Given the description of an element on the screen output the (x, y) to click on. 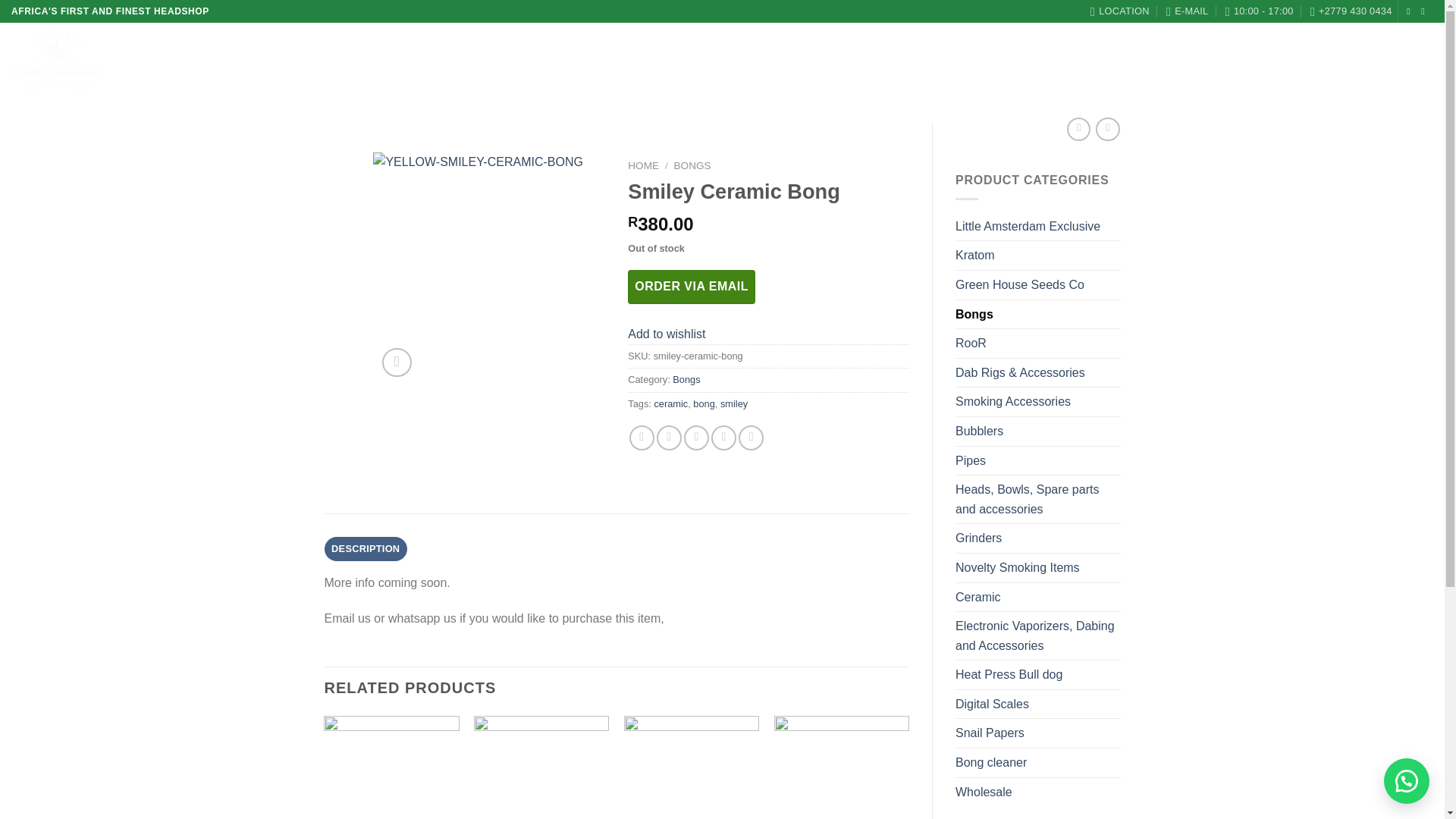
Smoking Accessories (1038, 401)
4a Buiten Street Cape Town, Western Cape (1120, 11)
Zoom (396, 362)
Green House Seeds Co (1038, 285)
SMILEY (952, 268)
Bongs (1038, 314)
10:00 - 17:00 (1259, 11)
Pipes (1038, 460)
Bubblers (1038, 430)
